Given the description of an element on the screen output the (x, y) to click on. 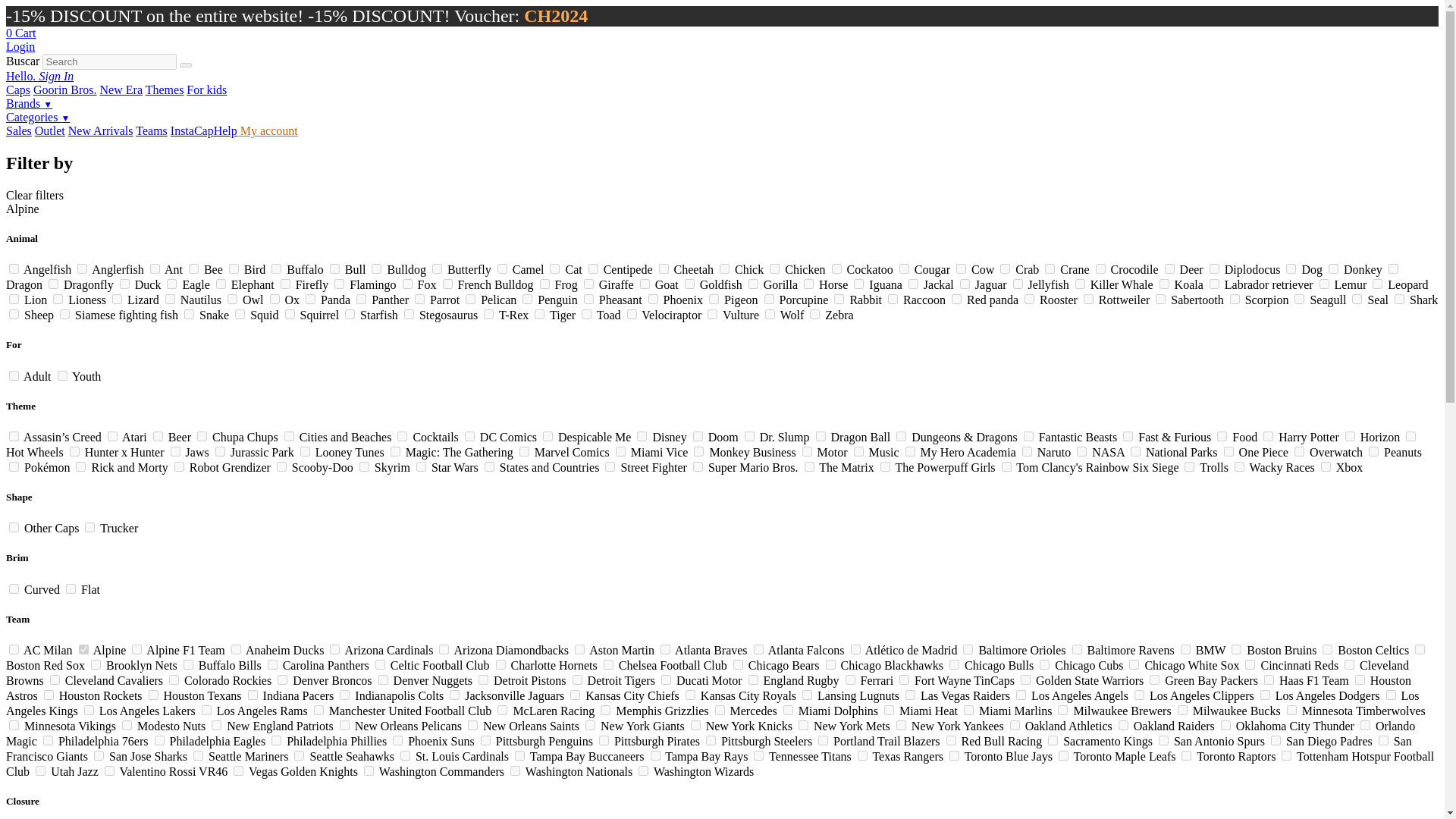
on (501, 268)
on (593, 268)
on (233, 268)
on (13, 268)
Search (185, 65)
on (903, 268)
on (774, 268)
Goorin Bros. (65, 89)
on (193, 268)
New Era (121, 89)
0 Cart (20, 32)
on (376, 268)
on (554, 268)
on (82, 268)
Hello. Sign In (39, 75)
